Given the description of an element on the screen output the (x, y) to click on. 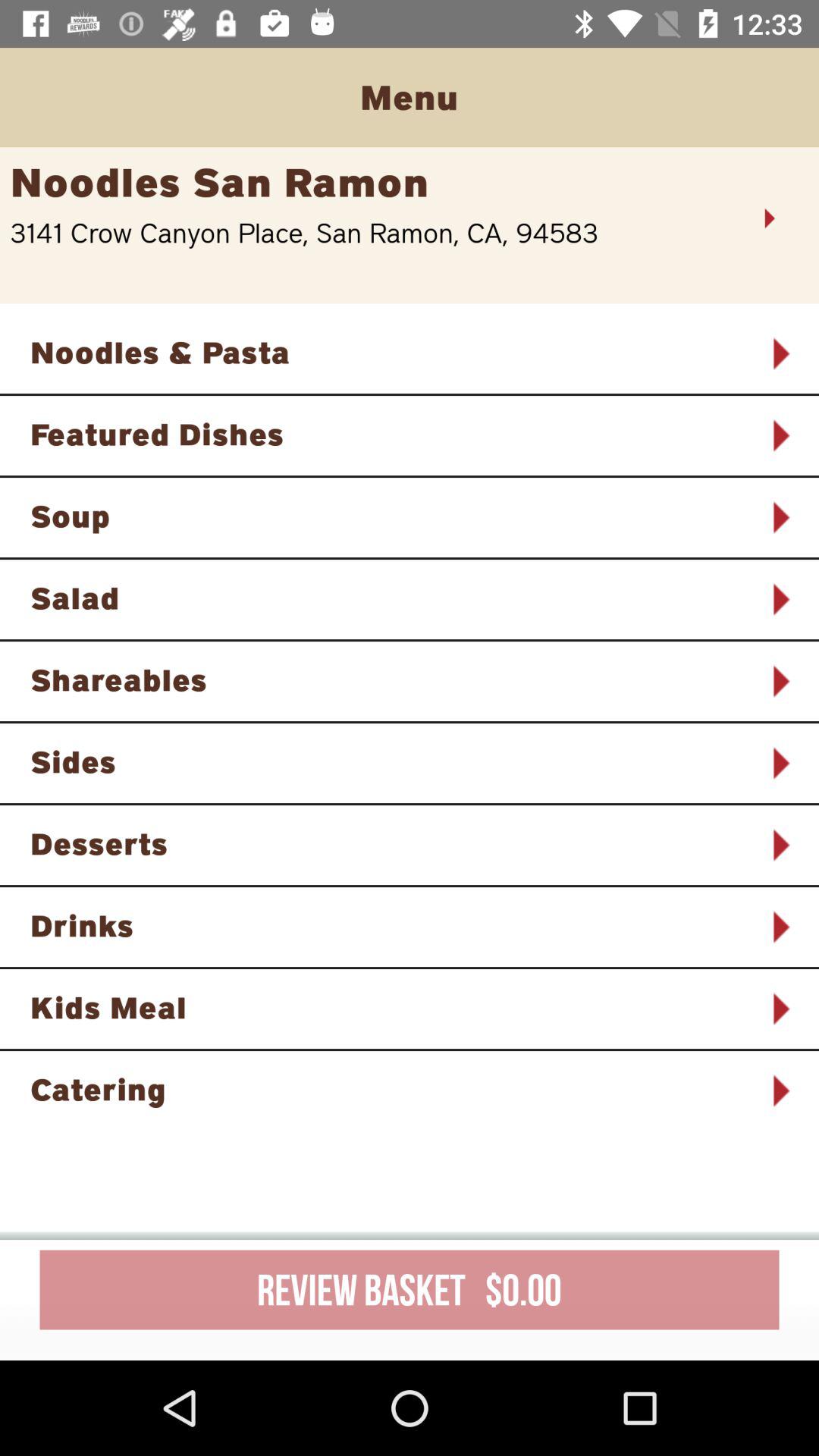
turn off drinks (390, 925)
